Given the description of an element on the screen output the (x, y) to click on. 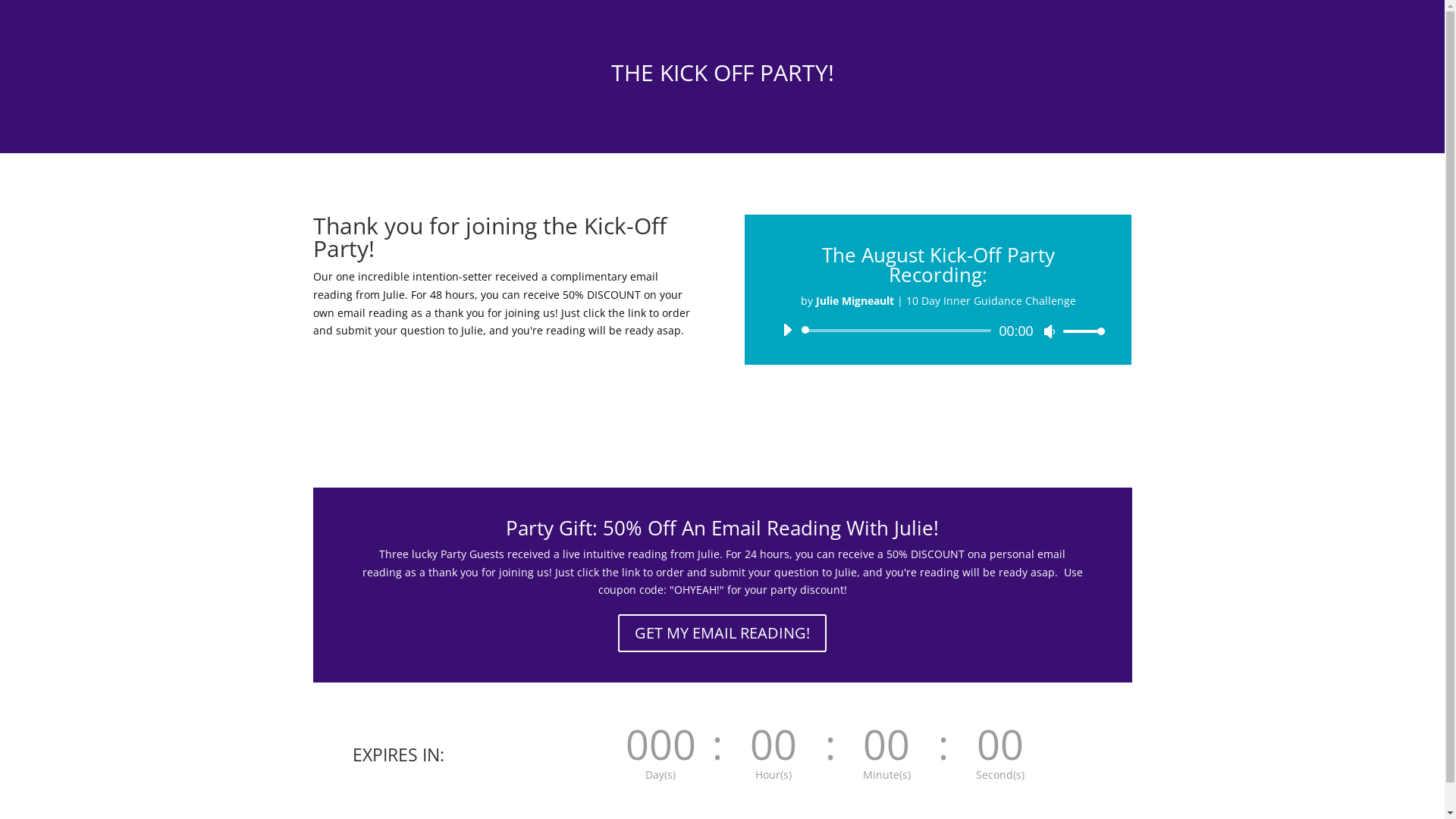
Mute Element type: hover (1049, 331)
GET MY EMAIL READING! Element type: text (722, 633)
Use Up/Down Arrow keys to increase or decrease volume. Element type: text (1079, 330)
Play Element type: hover (787, 329)
